Given the description of an element on the screen output the (x, y) to click on. 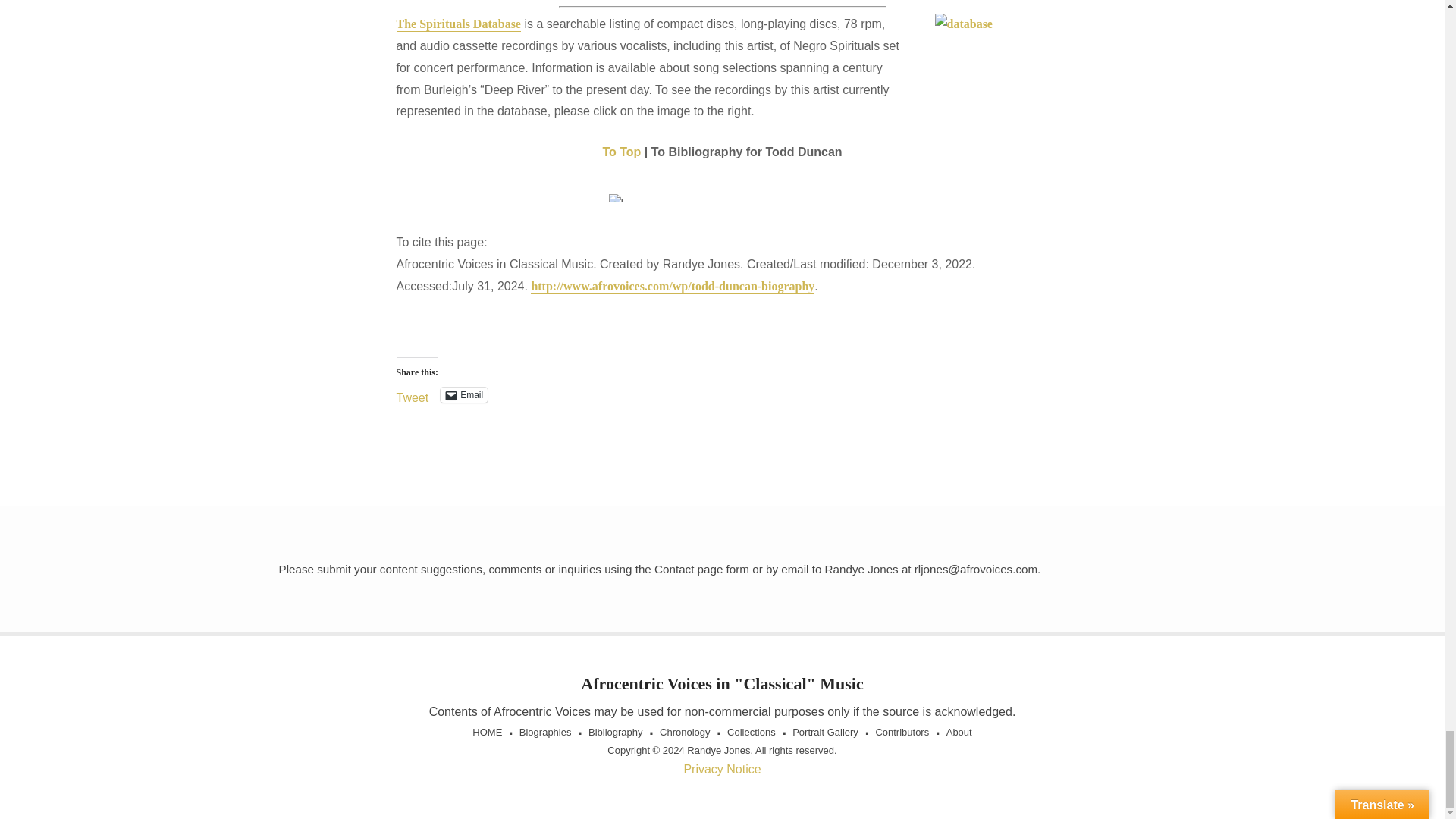
Click to email a link to a friend (464, 394)
